Given the description of an element on the screen output the (x, y) to click on. 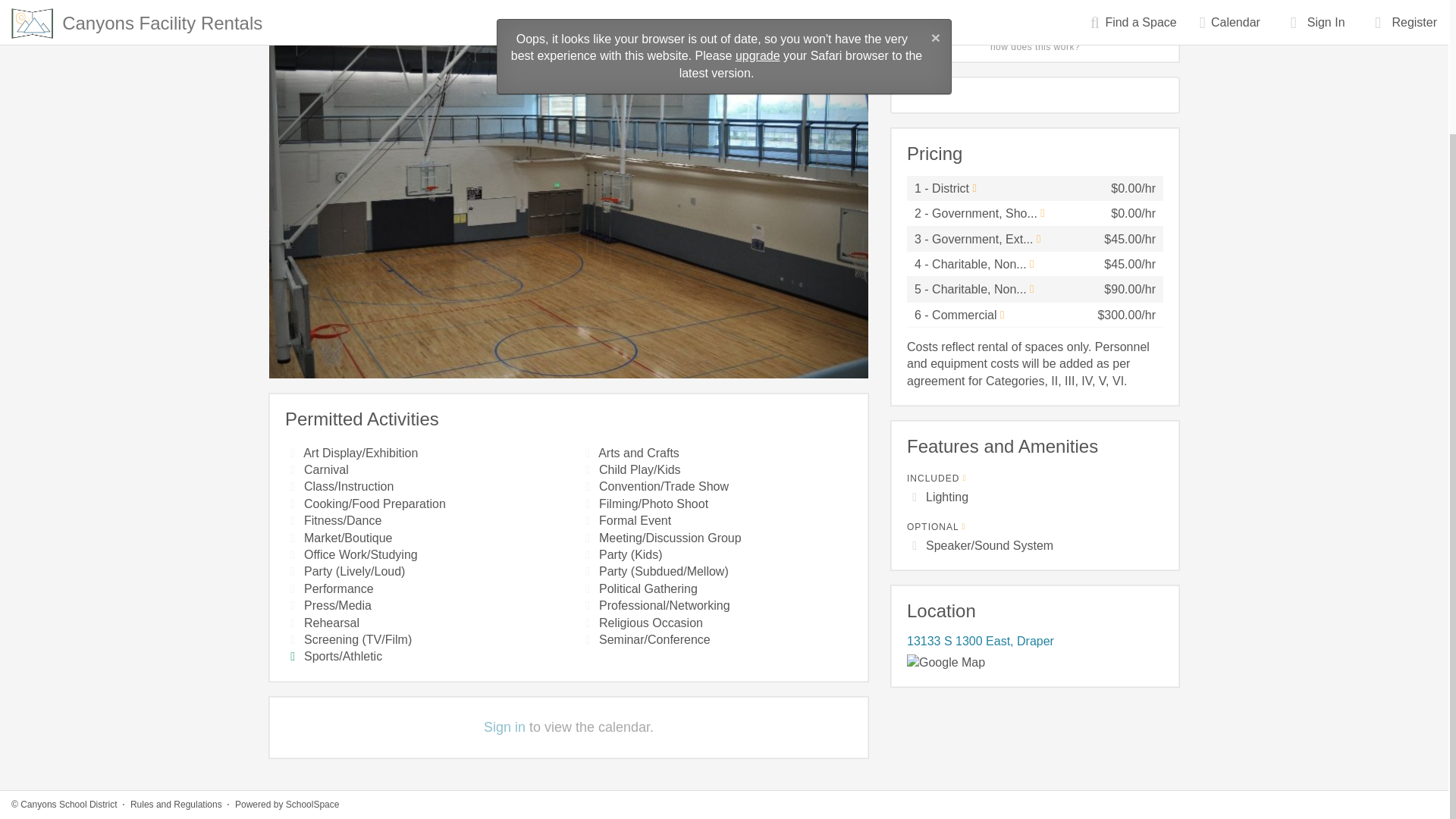
how does this work? (1035, 47)
SchoolSpace (312, 644)
13133 S 1300 East, Draper (980, 640)
Sign in (504, 726)
Canyons School District (68, 644)
request facility use (1035, 18)
Rules and Regulations (176, 644)
